Given the description of an element on the screen output the (x, y) to click on. 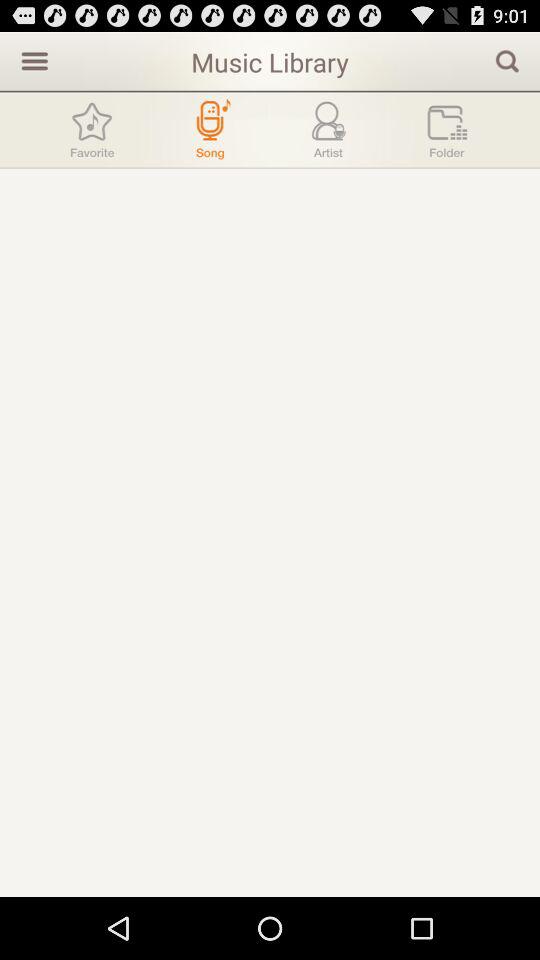
open sidebar menu (32, 60)
